Given the description of an element on the screen output the (x, y) to click on. 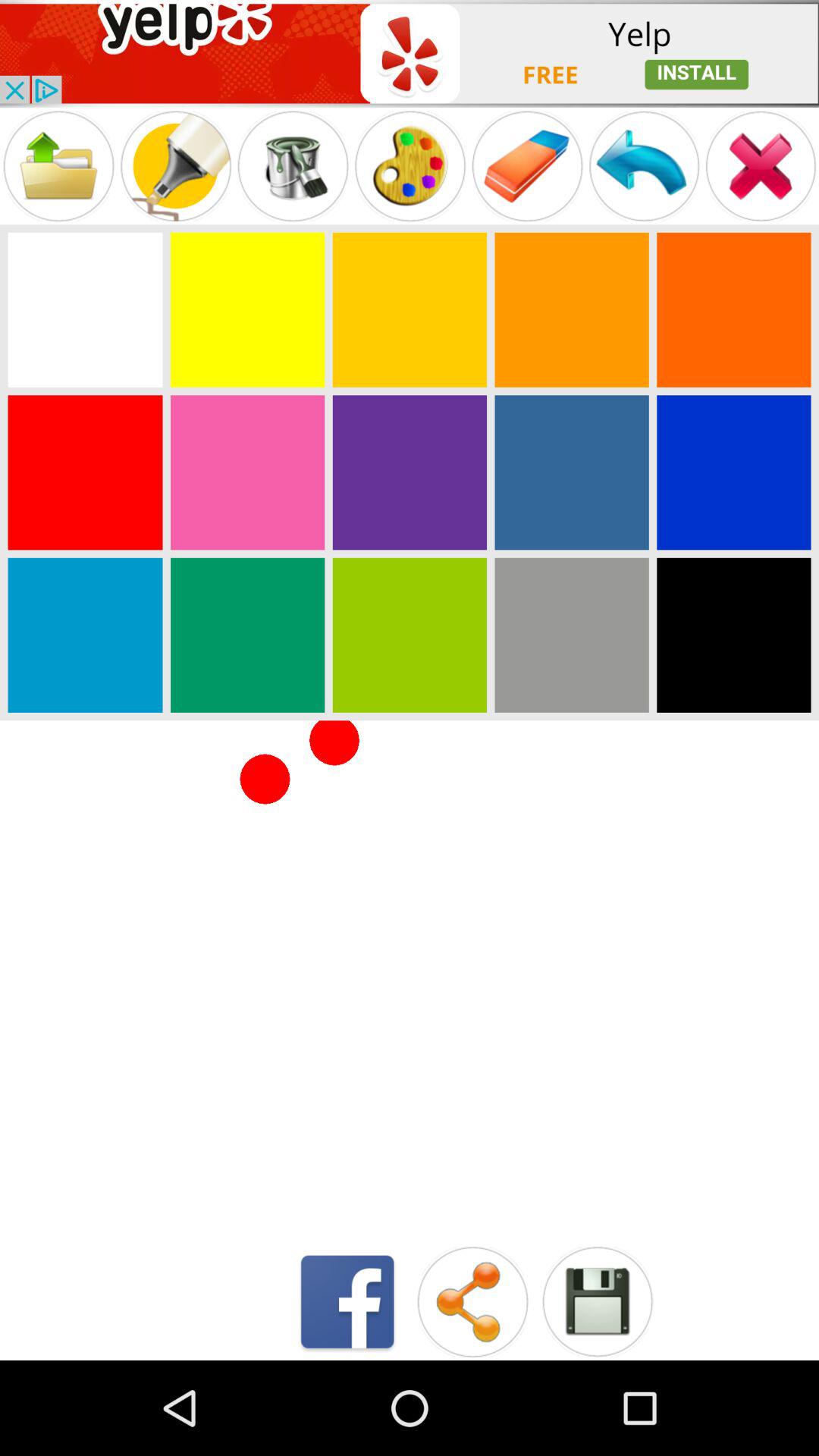
select red (84, 472)
